Given the description of an element on the screen output the (x, y) to click on. 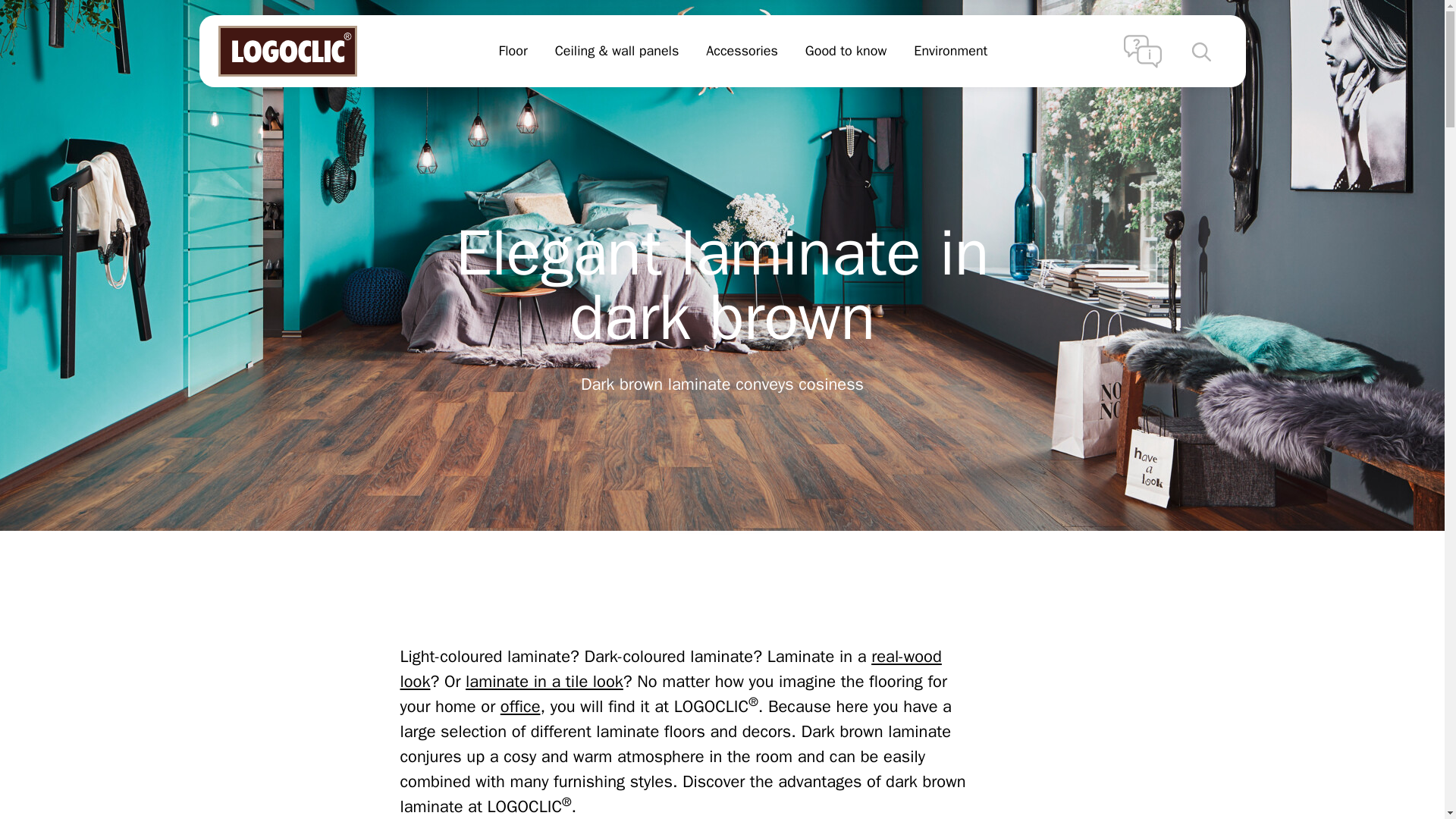
Accessories (741, 50)
Service (1142, 50)
search (1201, 50)
Zum Inhalt (13, 13)
